Given the description of an element on the screen output the (x, y) to click on. 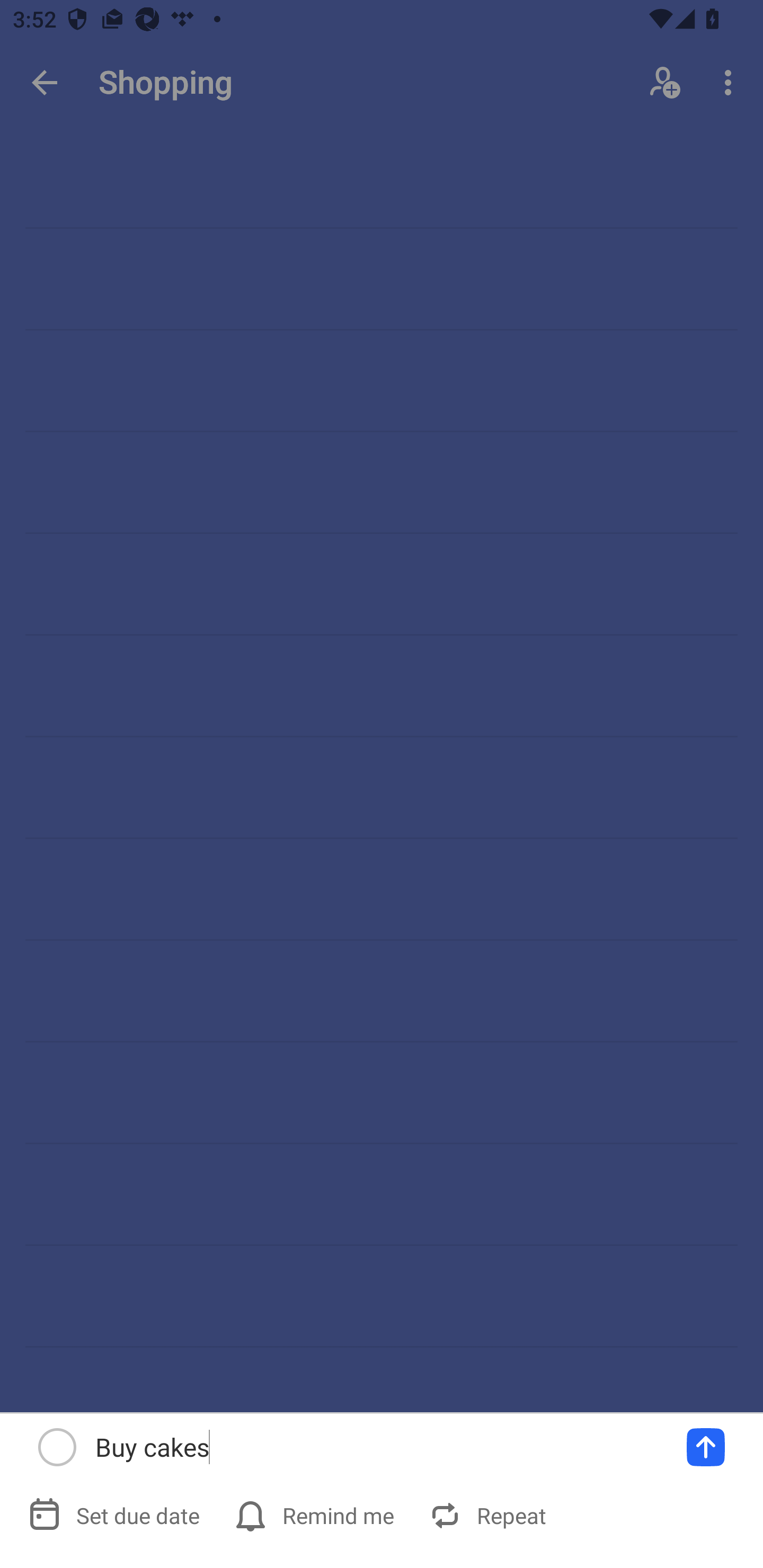
Remind me (315, 1515)
